Given the description of an element on the screen output the (x, y) to click on. 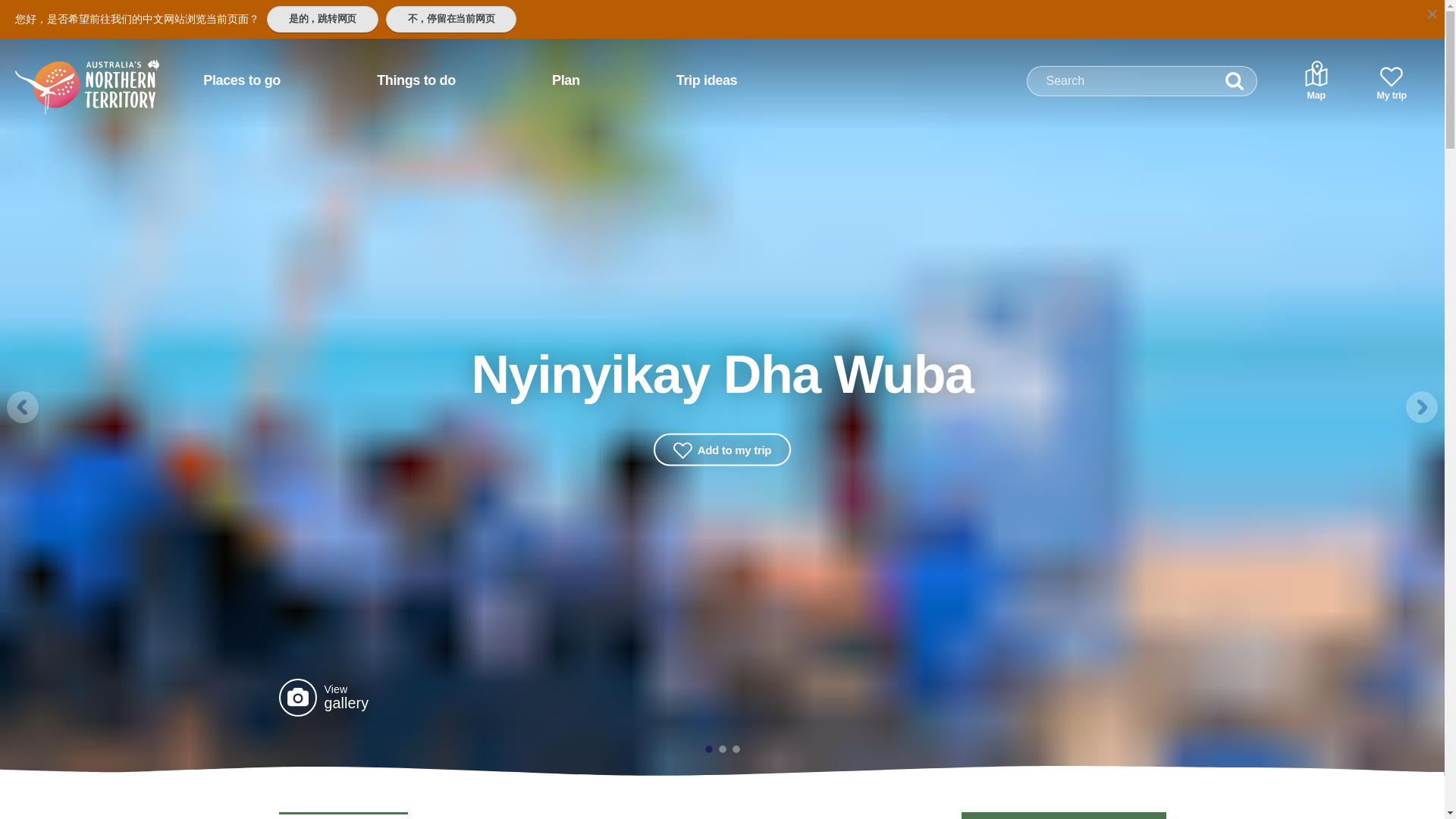
Home (67, 73)
Search (1234, 81)
Things to do (416, 80)
Places to go (241, 80)
